Given the description of an element on the screen output the (x, y) to click on. 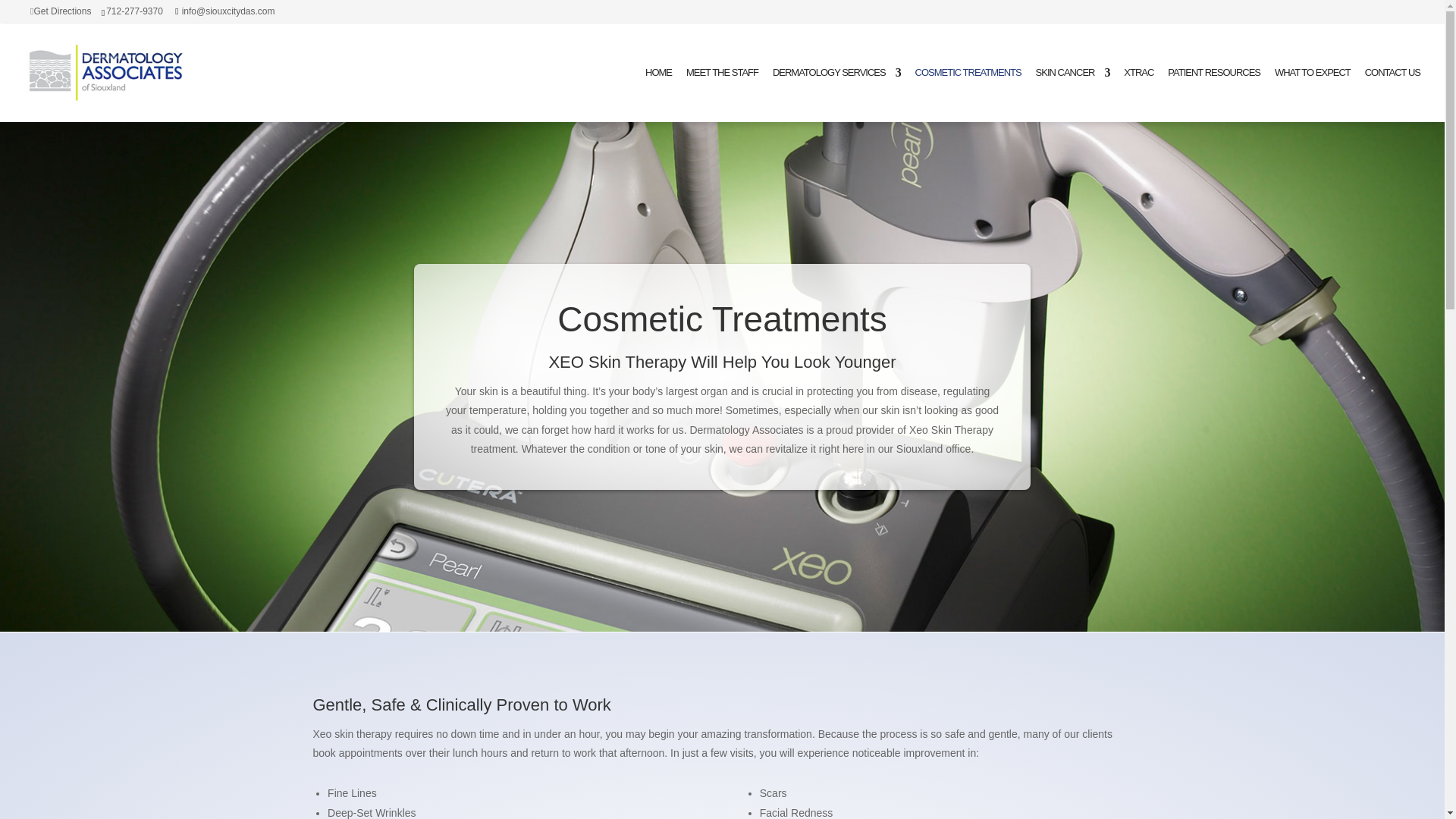
COSMETIC TREATMENTS (968, 94)
MEET THE STAFF (721, 94)
SKIN CANCER (1072, 94)
712-277-9370 (134, 10)
DERMATOLOGY SERVICES (837, 94)
WHAT TO EXPECT (1313, 94)
Get Directions (60, 10)
PATIENT RESOURCES (1213, 94)
CONTACT US (1393, 94)
